Given the description of an element on the screen output the (x, y) to click on. 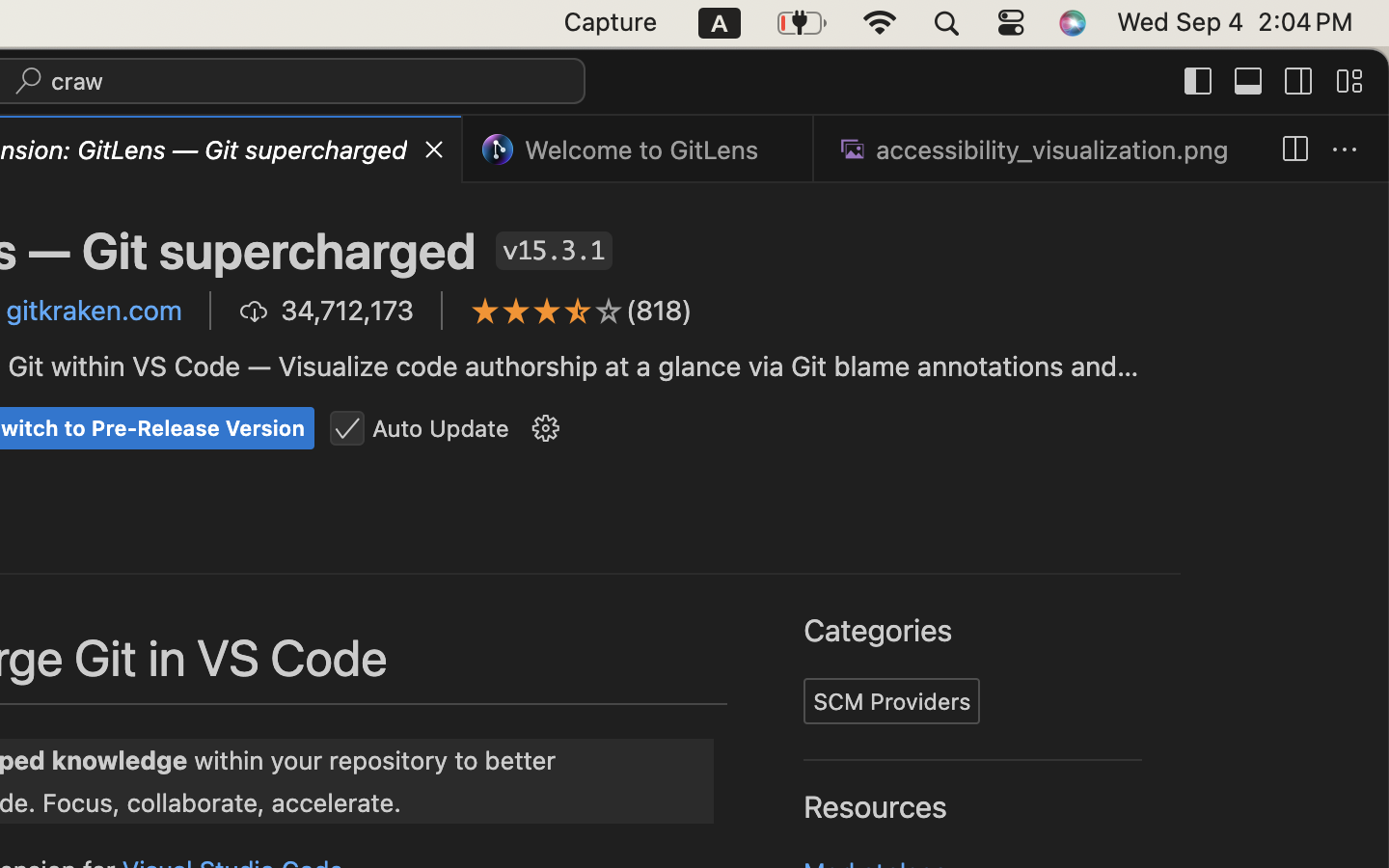
features, which require a Element type: AXStaticText (193, 563)
 Element type: AXCheckBox (1299, 80)
GitLens is Element type: AXStaticText (763, 422)
0 accessibility_visualization.png   Element type: AXRadioButton (1039, 149)
Version Element type: AXStaticText (1233, 248)
